Given the description of an element on the screen output the (x, y) to click on. 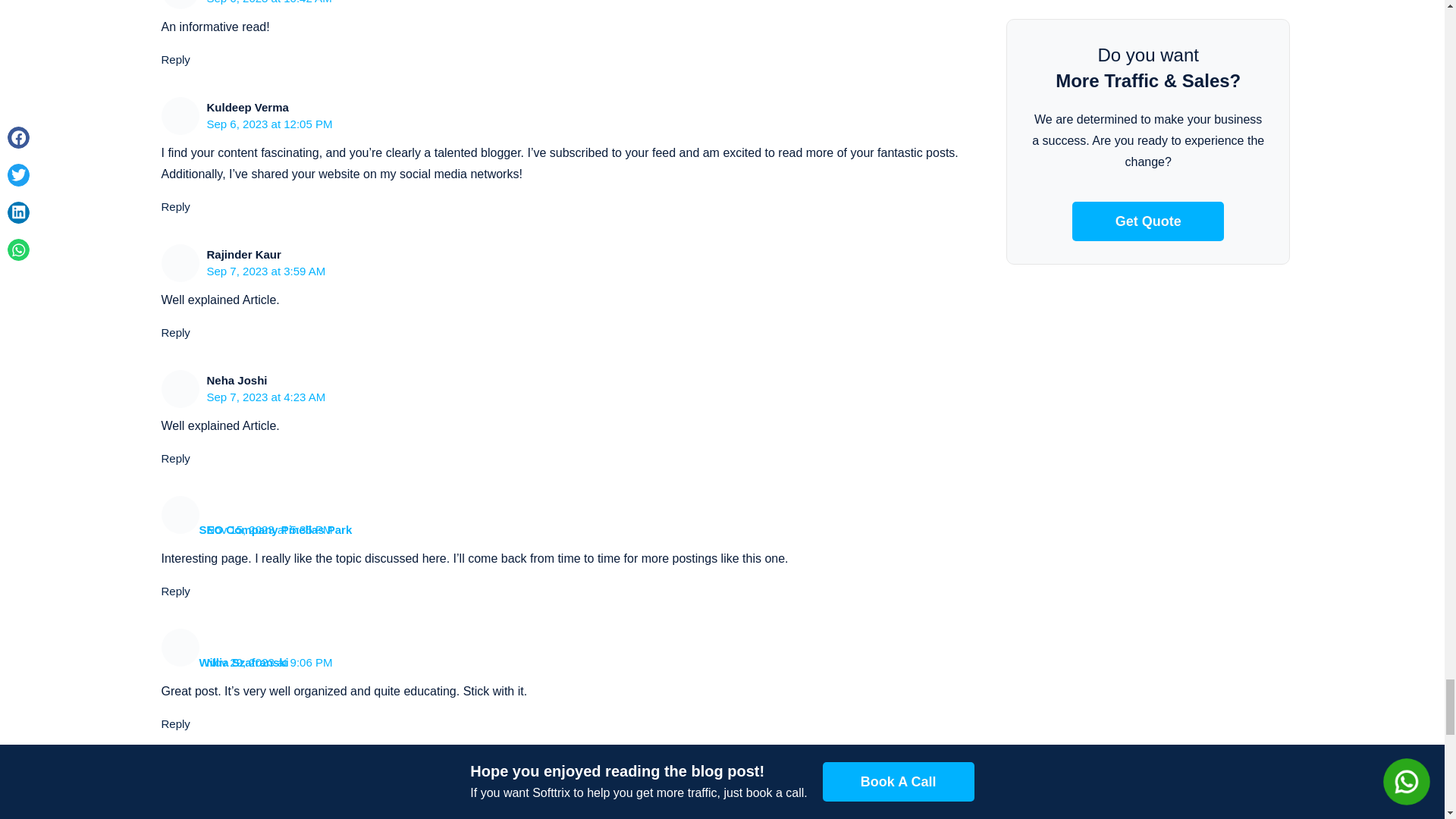
Reply (174, 458)
Reply (174, 723)
Reply (174, 205)
Reply (174, 59)
Reply (174, 332)
Reply (174, 590)
